Given the description of an element on the screen output the (x, y) to click on. 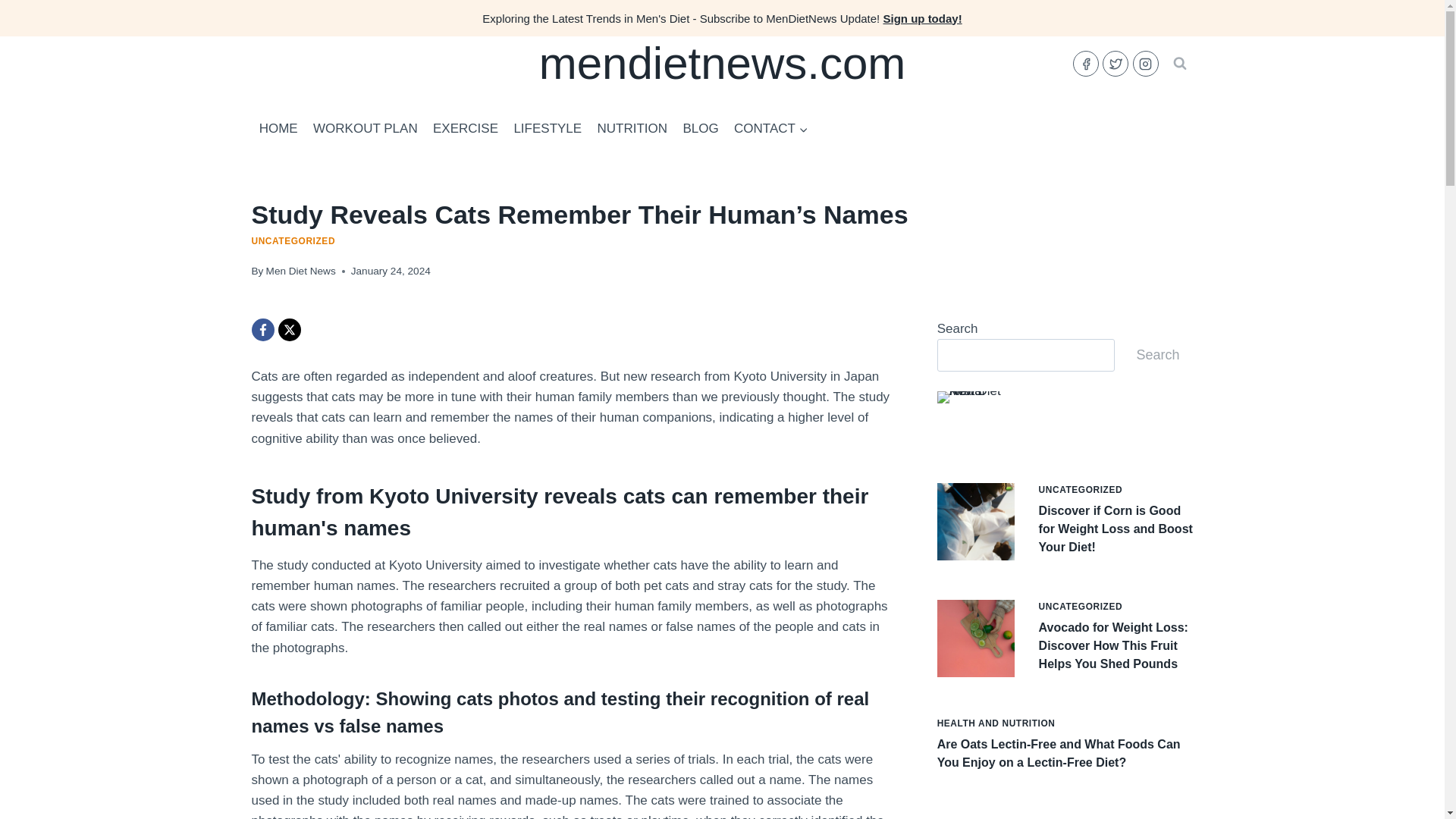
Men Diet News (301, 270)
Sign up today! (921, 18)
EXERCISE (465, 128)
CONTACT (770, 128)
mendietnews.com (721, 63)
WORKOUT PLAN (365, 128)
NUTRITION (632, 128)
LIFESTYLE (547, 128)
HOME (278, 128)
BLOG (700, 128)
UNCATEGORIZED (293, 240)
Sign up today! (921, 18)
